Given the description of an element on the screen output the (x, y) to click on. 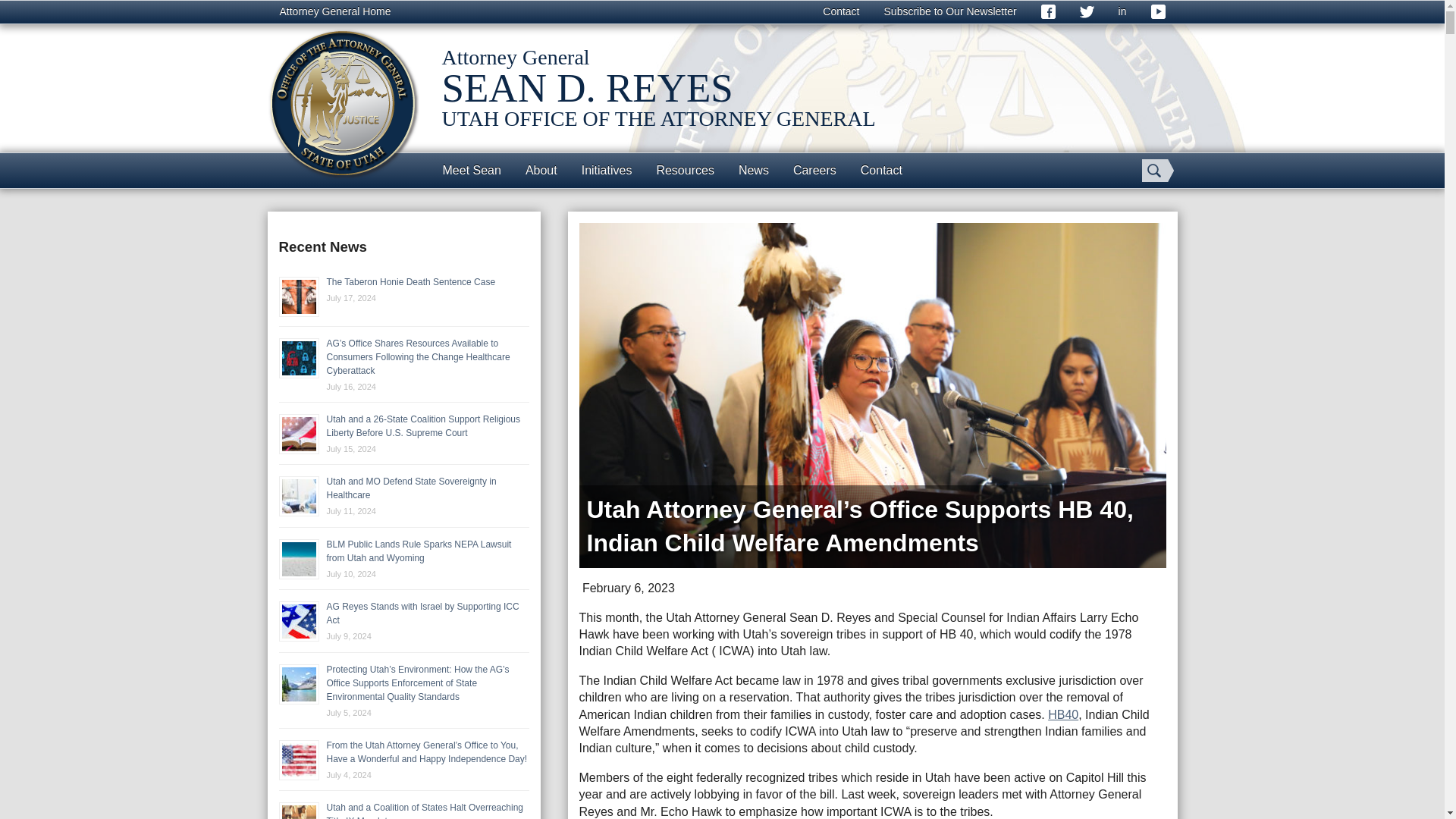
Resources (684, 170)
Subscribe to Our Newsletter (950, 11)
About (541, 170)
Facebook (1048, 11)
Attorney General Home (334, 11)
Meet Sean (471, 170)
Twitter (1086, 11)
Utah Office of the Attorney General (342, 103)
in (1122, 11)
Initiatives (607, 170)
YouTube (1157, 11)
Contact (840, 11)
